Given the description of an element on the screen output the (x, y) to click on. 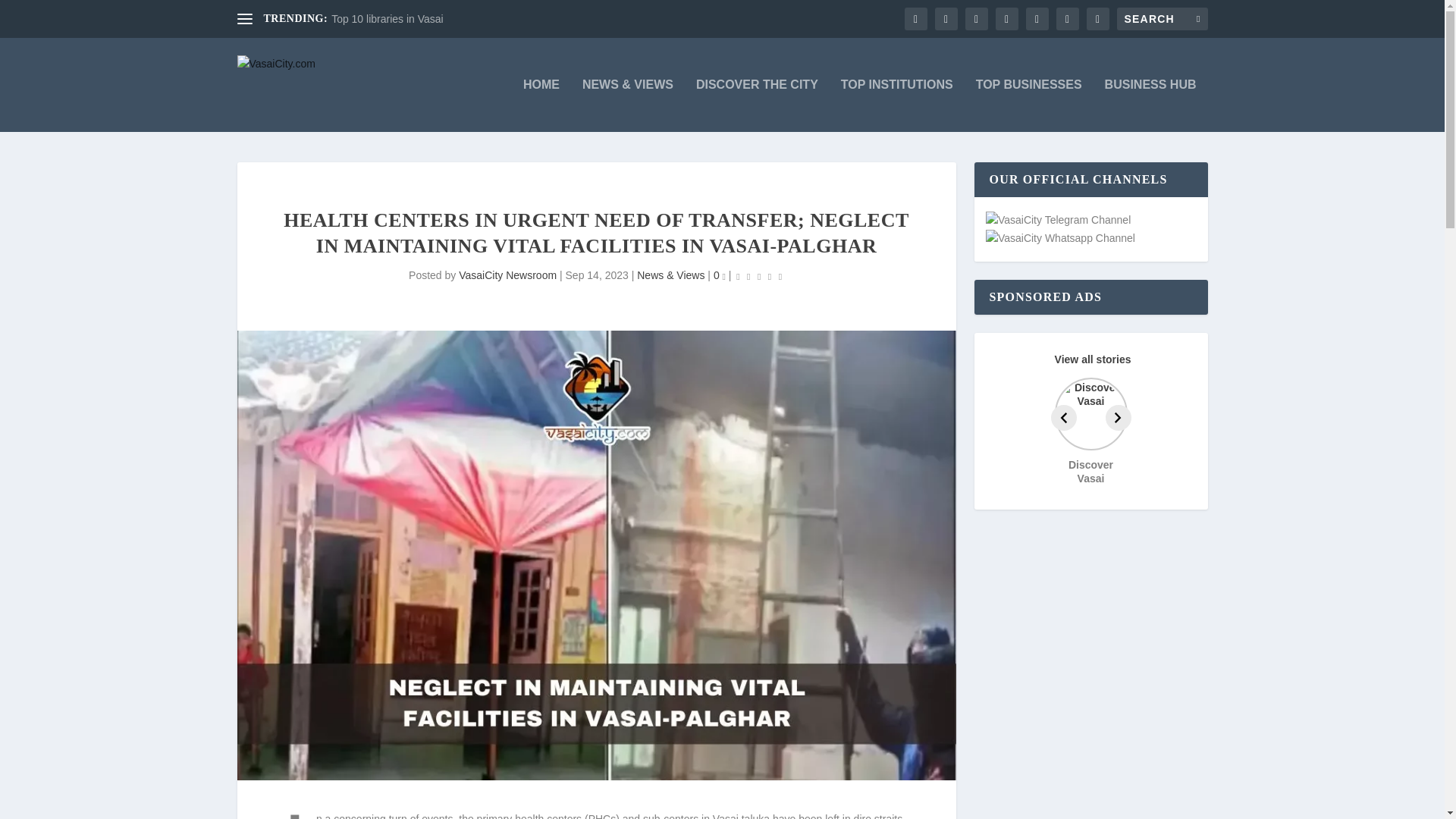
Posts by VasaiCity Newsroom (507, 275)
0 (719, 275)
DISCOVER THE CITY (756, 104)
TOP BUSINESSES (1028, 104)
Top 10 libraries in Vasai (387, 19)
TOP INSTITUTIONS (897, 104)
Search for: (1161, 18)
BUSINESS HUB (1150, 104)
Rating: 0.00 (758, 275)
VasaiCity Newsroom (507, 275)
